Given the description of an element on the screen output the (x, y) to click on. 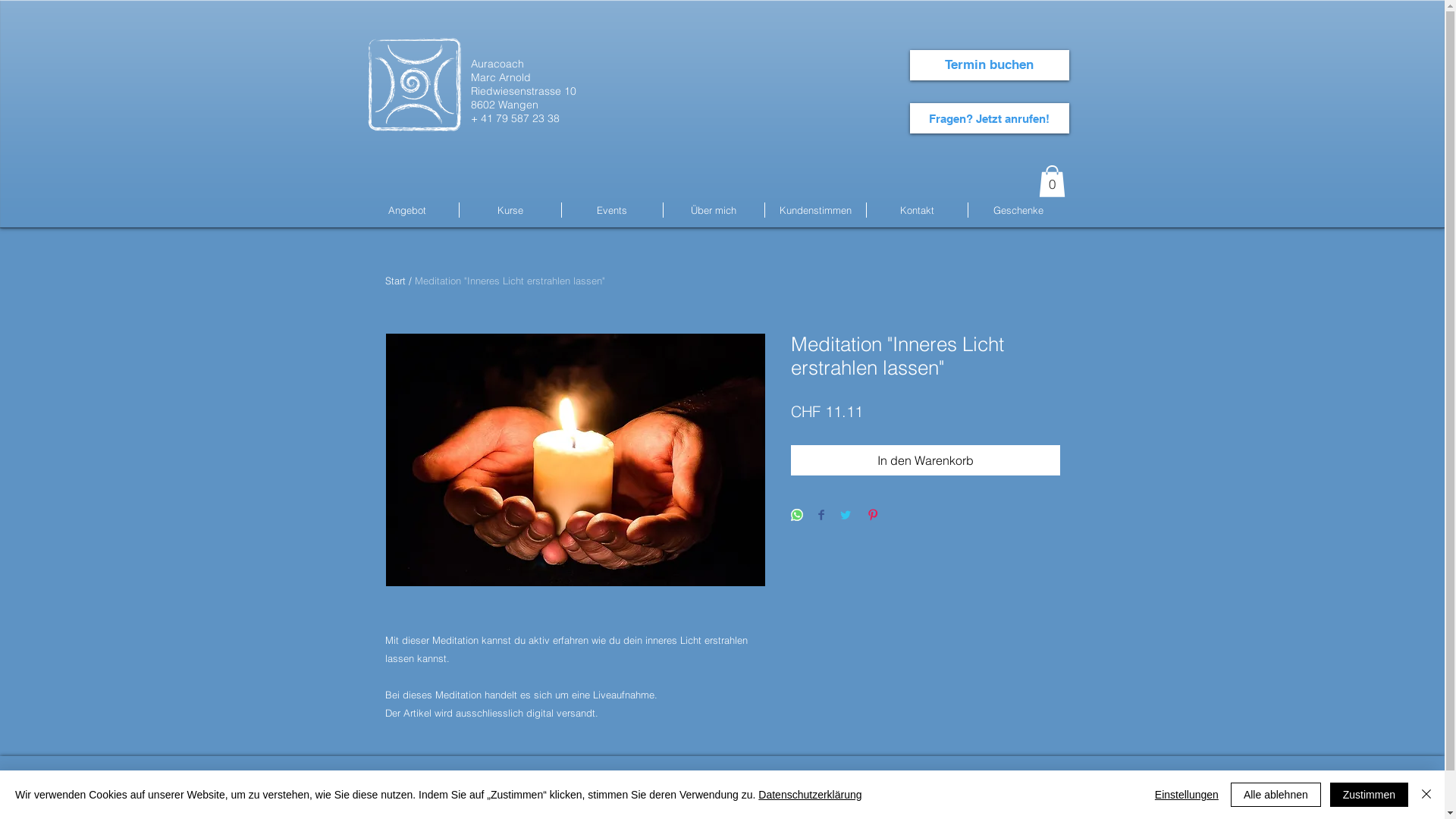
Geschenke Element type: text (1017, 209)
0 Element type: text (1051, 181)
In den Warenkorb Element type: text (924, 460)
Termin buchen Element type: text (989, 65)
Fragen? Jetzt anrufen! Element type: text (989, 118)
Kundenstimmen Element type: text (814, 209)
Kontakt Element type: text (916, 209)
Events Element type: text (611, 209)
Kurse Element type: text (510, 209)
Start Element type: text (395, 280)
